Given the description of an element on the screen output the (x, y) to click on. 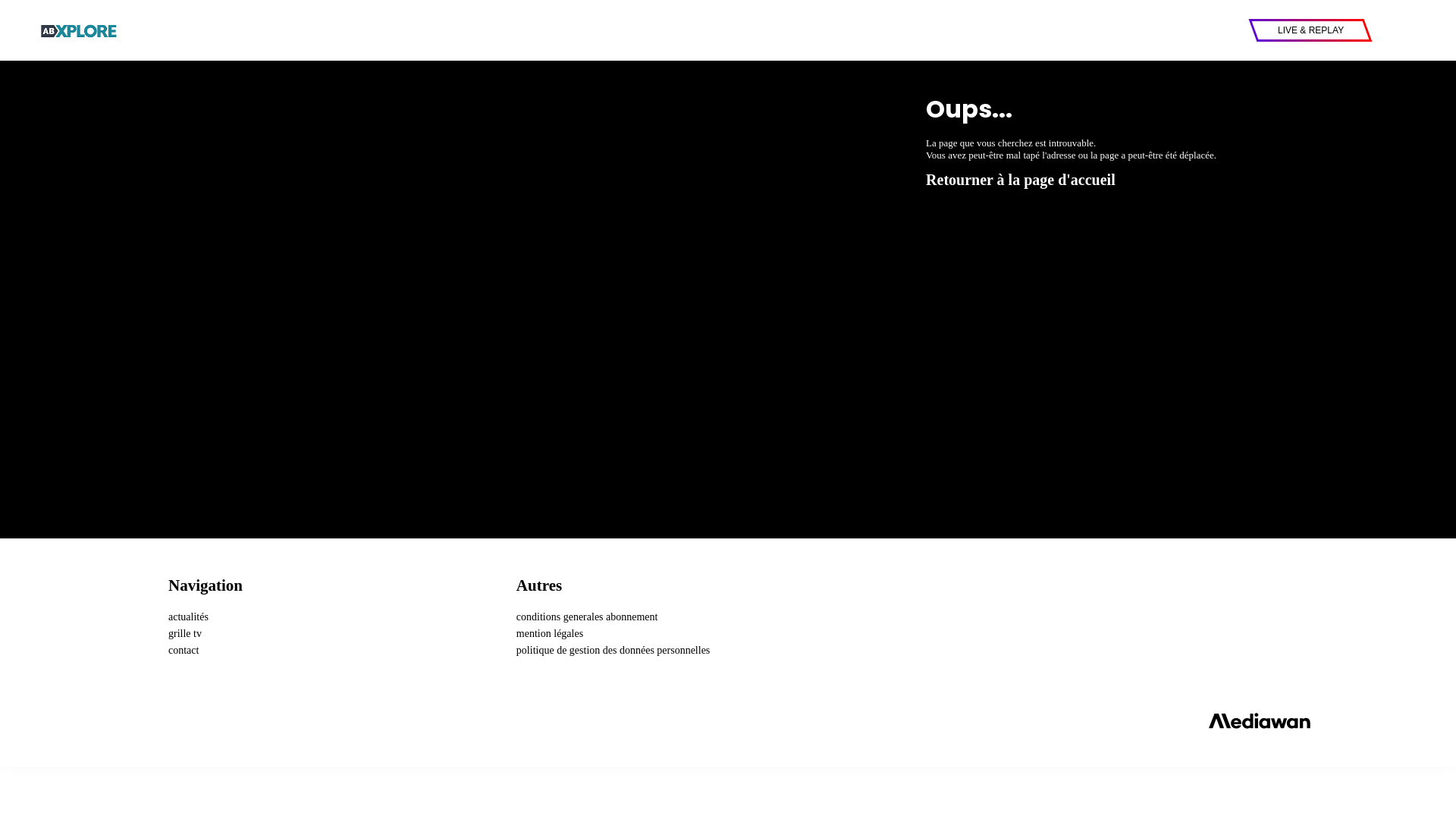
grille tv Element type: text (184, 633)
accueil Element type: hover (727, 720)
LIVE & REPLAY Element type: text (1310, 29)
logo Element type: hover (79, 29)
contact Element type: text (183, 649)
conditions generales abonnement Element type: text (587, 616)
